Given the description of an element on the screen output the (x, y) to click on. 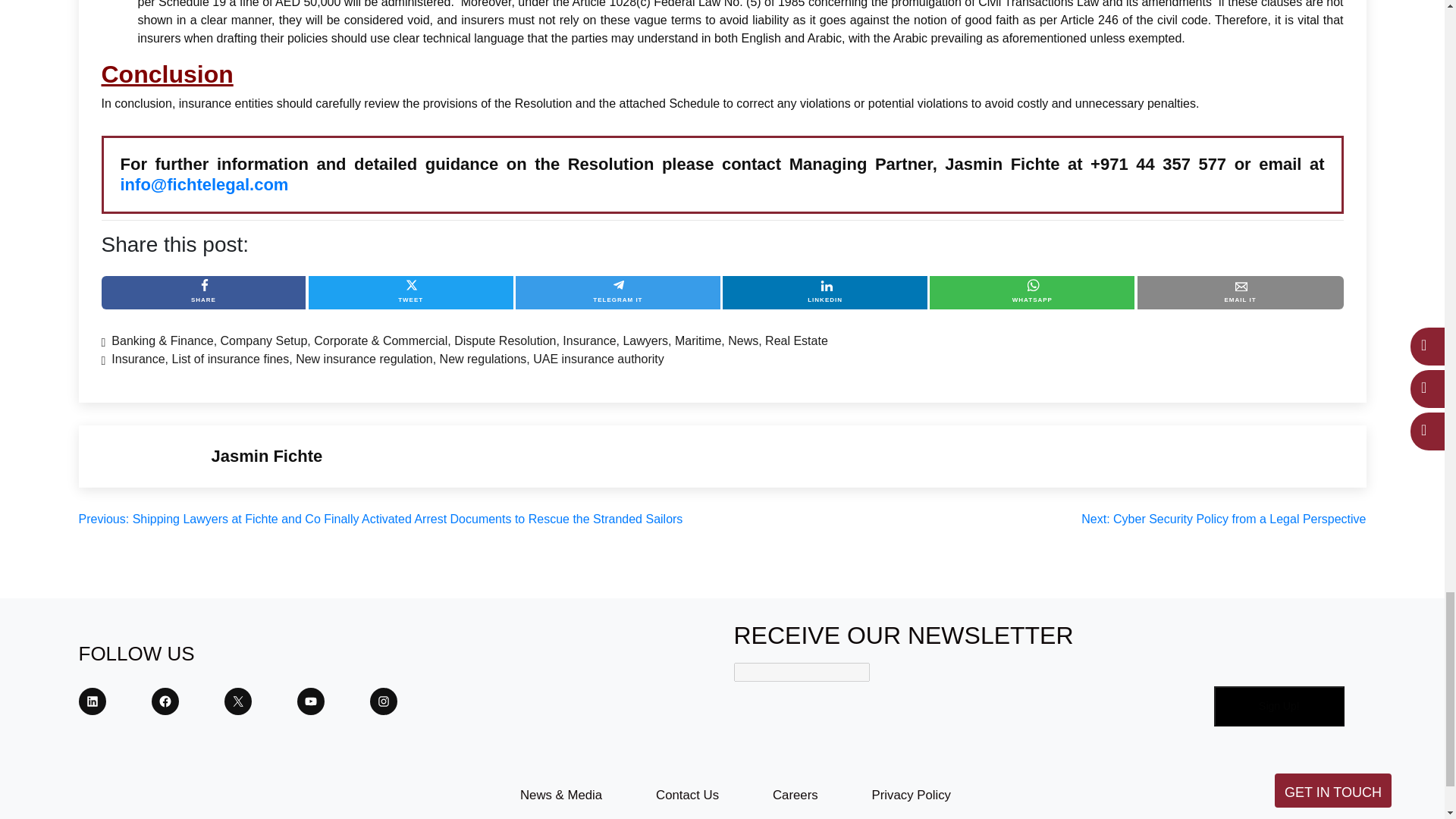
New insurance regulation (363, 358)
New regulations (483, 358)
News (743, 340)
LINKEDIN (824, 292)
Insurance (138, 358)
Share on WhatsApp (1032, 292)
Tweet This (410, 292)
EMAIL IT (1240, 292)
Maritime (697, 340)
Share on Telegram (617, 292)
Lawyers (645, 340)
Insurance (588, 340)
Company Setup (264, 340)
WHATSAPP (1032, 292)
